Given the description of an element on the screen output the (x, y) to click on. 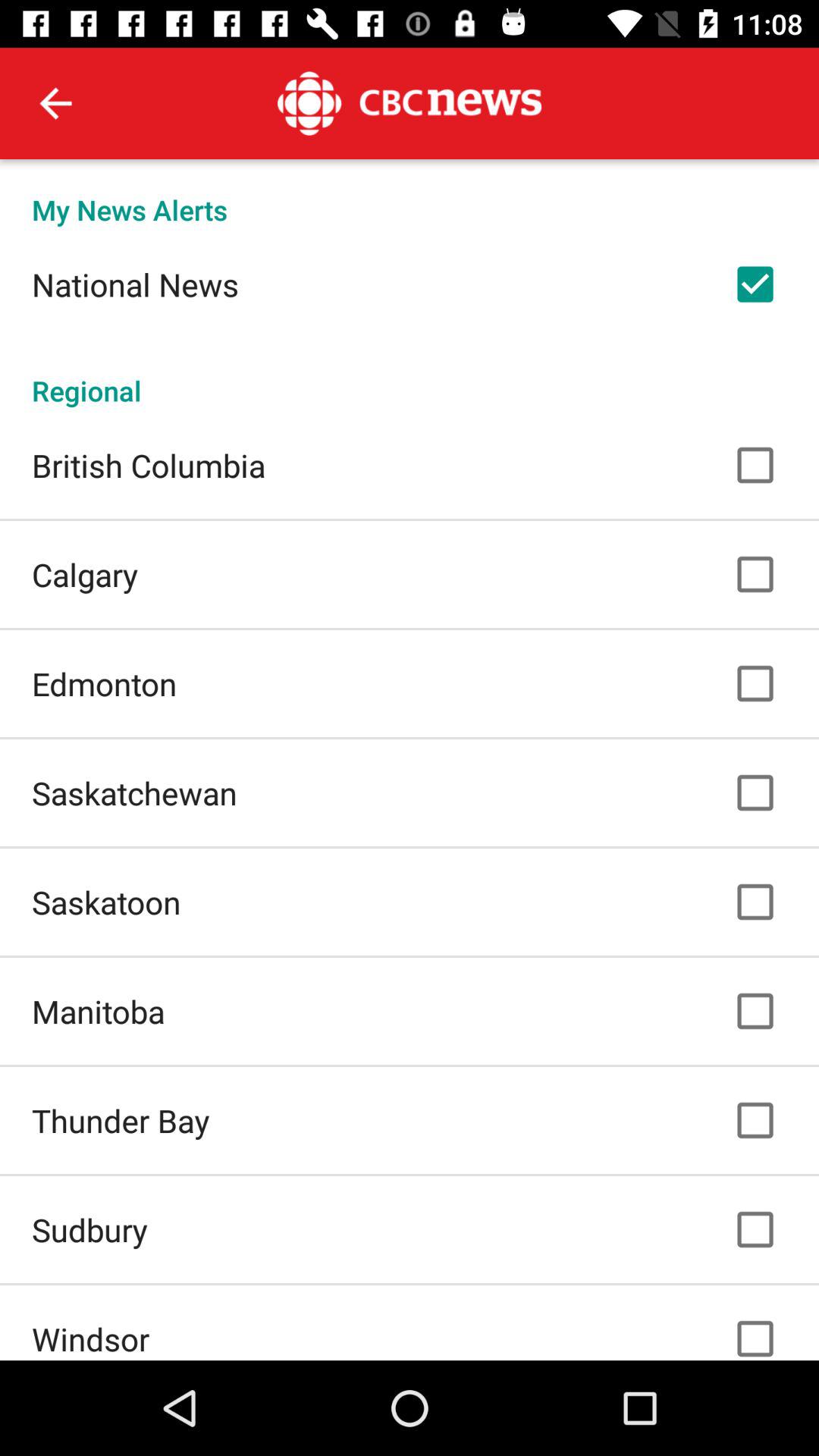
turn off british columbia icon (148, 464)
